Given the description of an element on the screen output the (x, y) to click on. 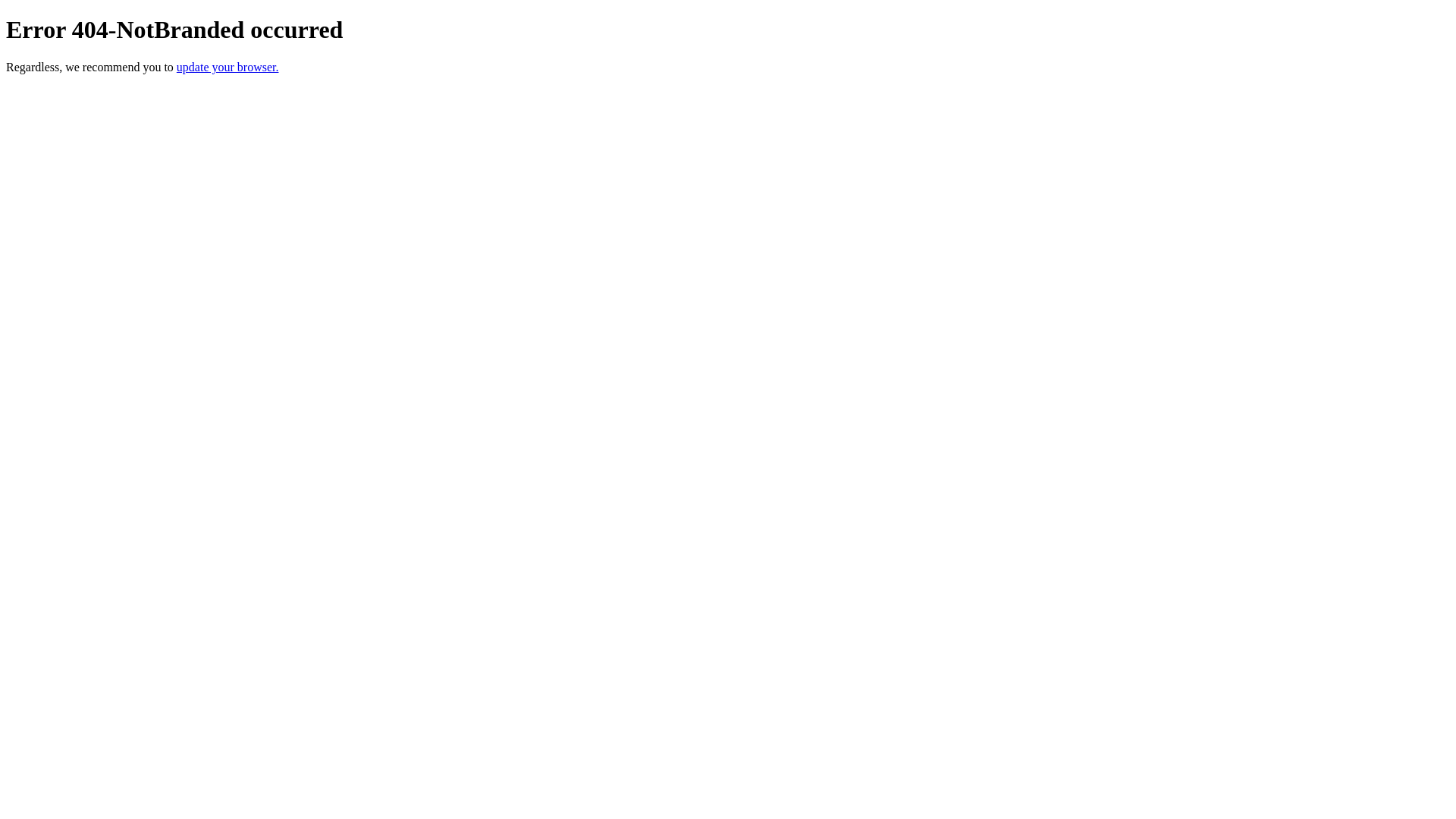
update your browser. Element type: text (227, 66)
